Given the description of an element on the screen output the (x, y) to click on. 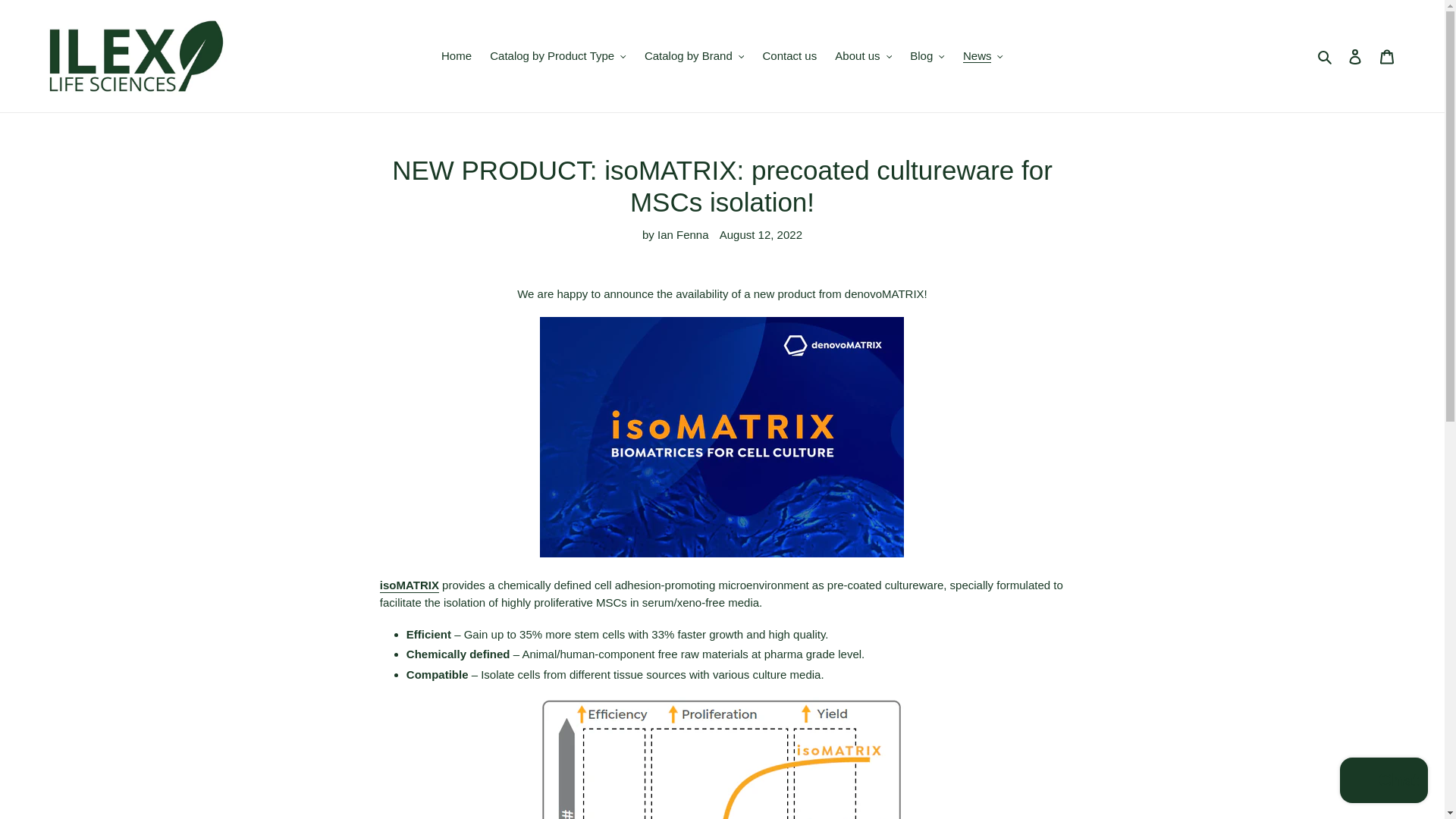
Shopify online store chat (1383, 781)
Home (456, 56)
isoMATRIX: precoated cultureware for MSCs isolation (409, 585)
Catalog by Product Type (557, 56)
